Given the description of an element on the screen output the (x, y) to click on. 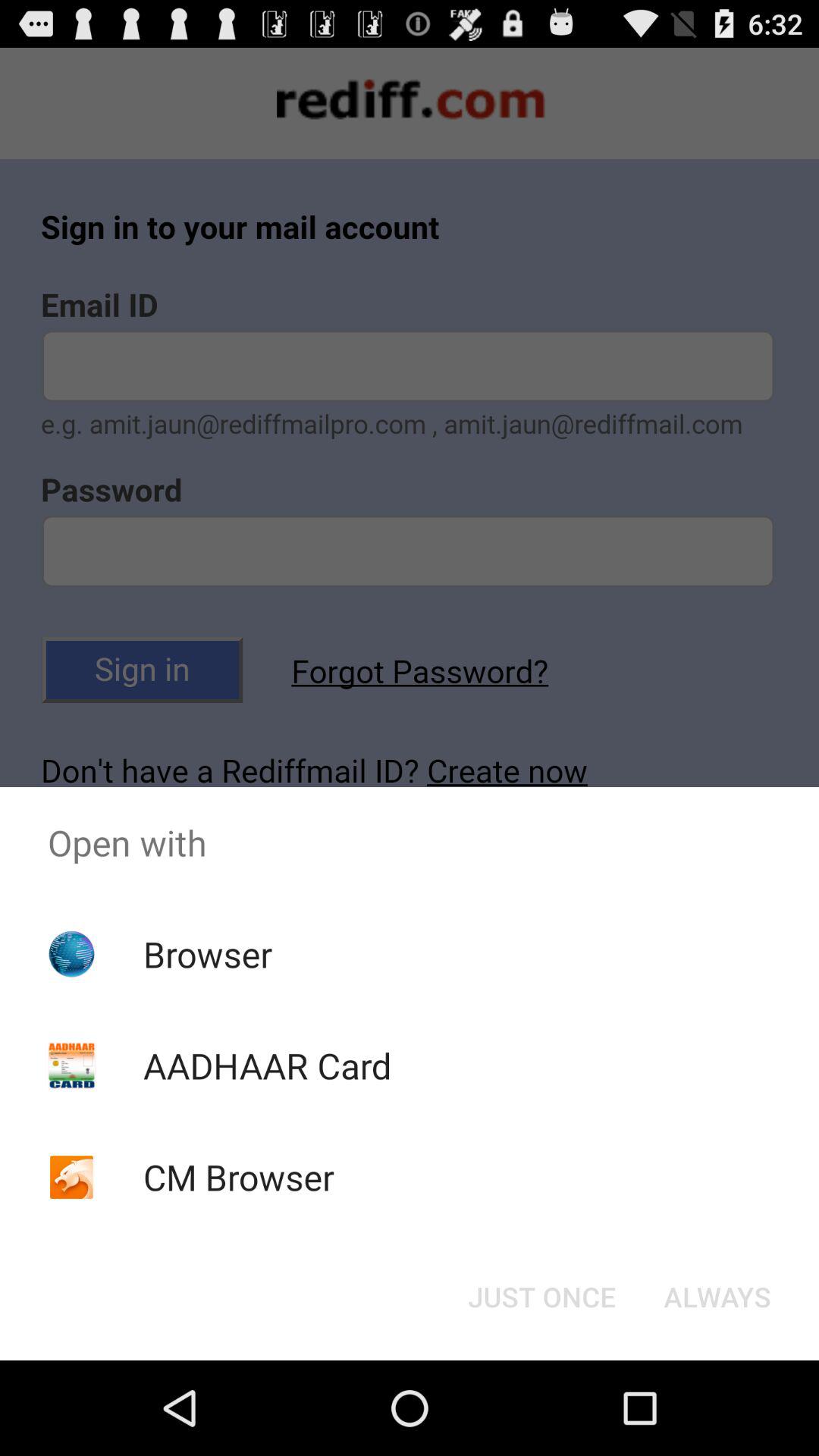
open the icon below open with item (717, 1296)
